Given the description of an element on the screen output the (x, y) to click on. 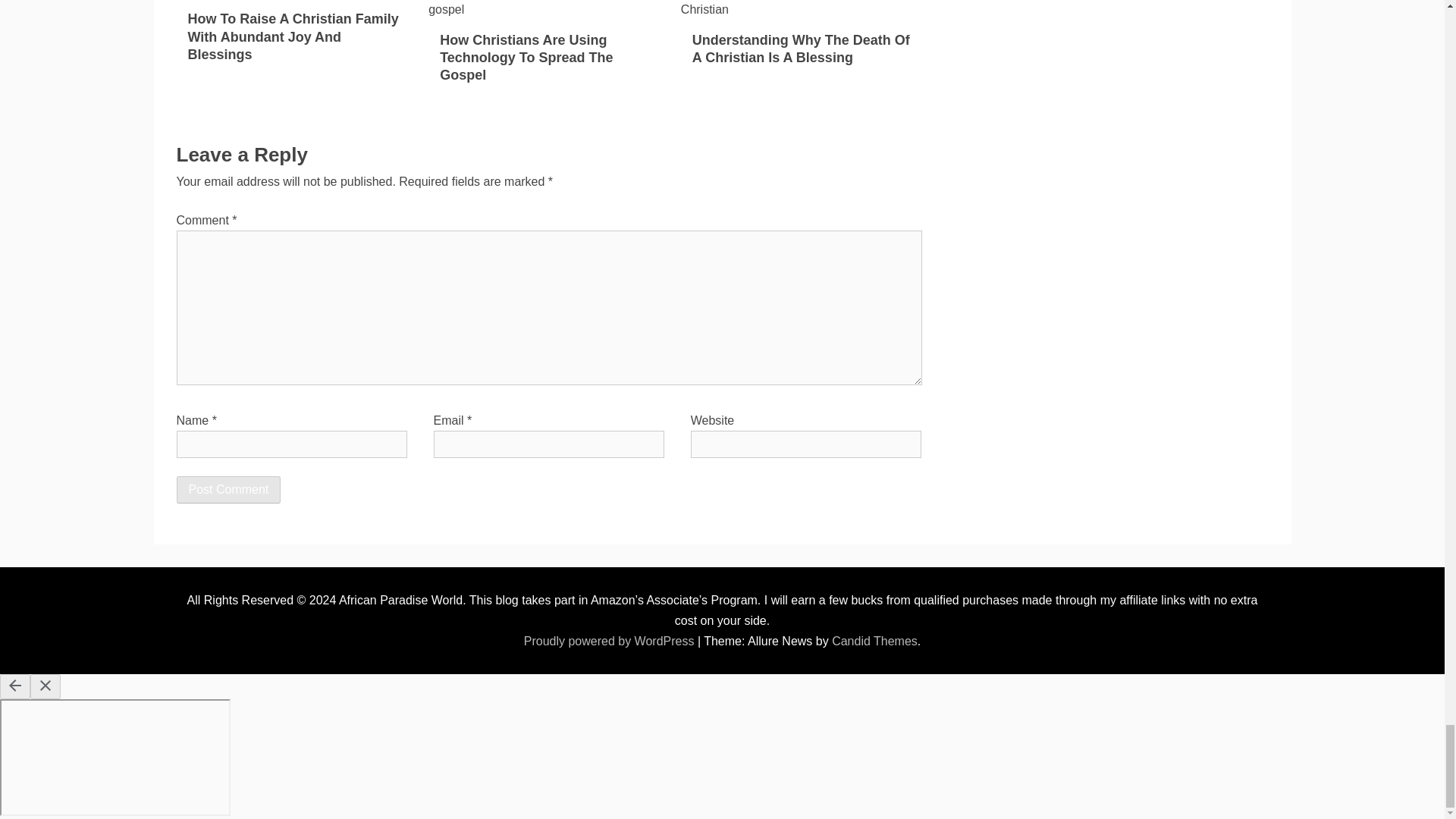
Post Comment (228, 489)
